Given the description of an element on the screen output the (x, y) to click on. 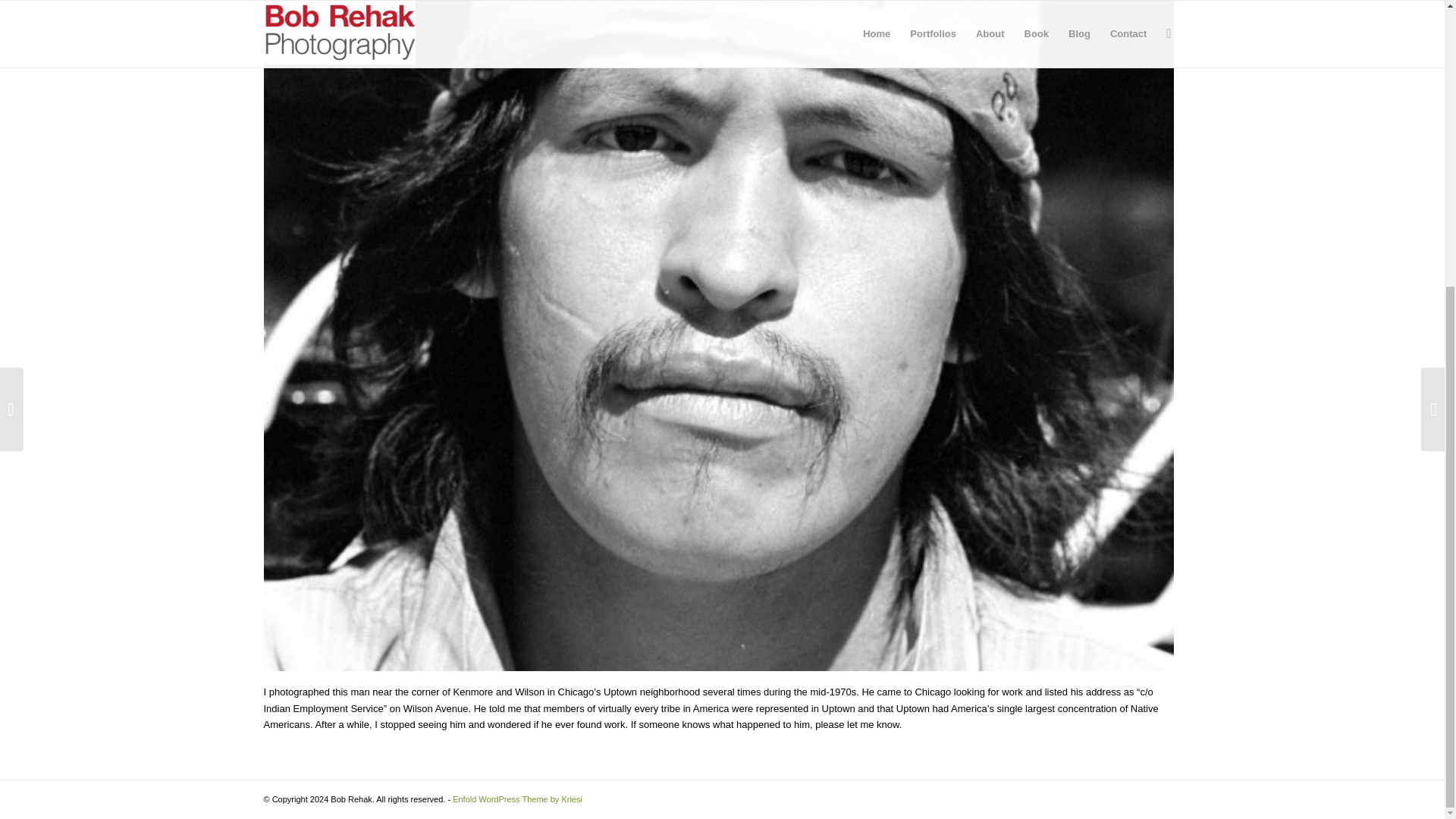
Enfold WordPress Theme by Kriesi (517, 798)
